Given the description of an element on the screen output the (x, y) to click on. 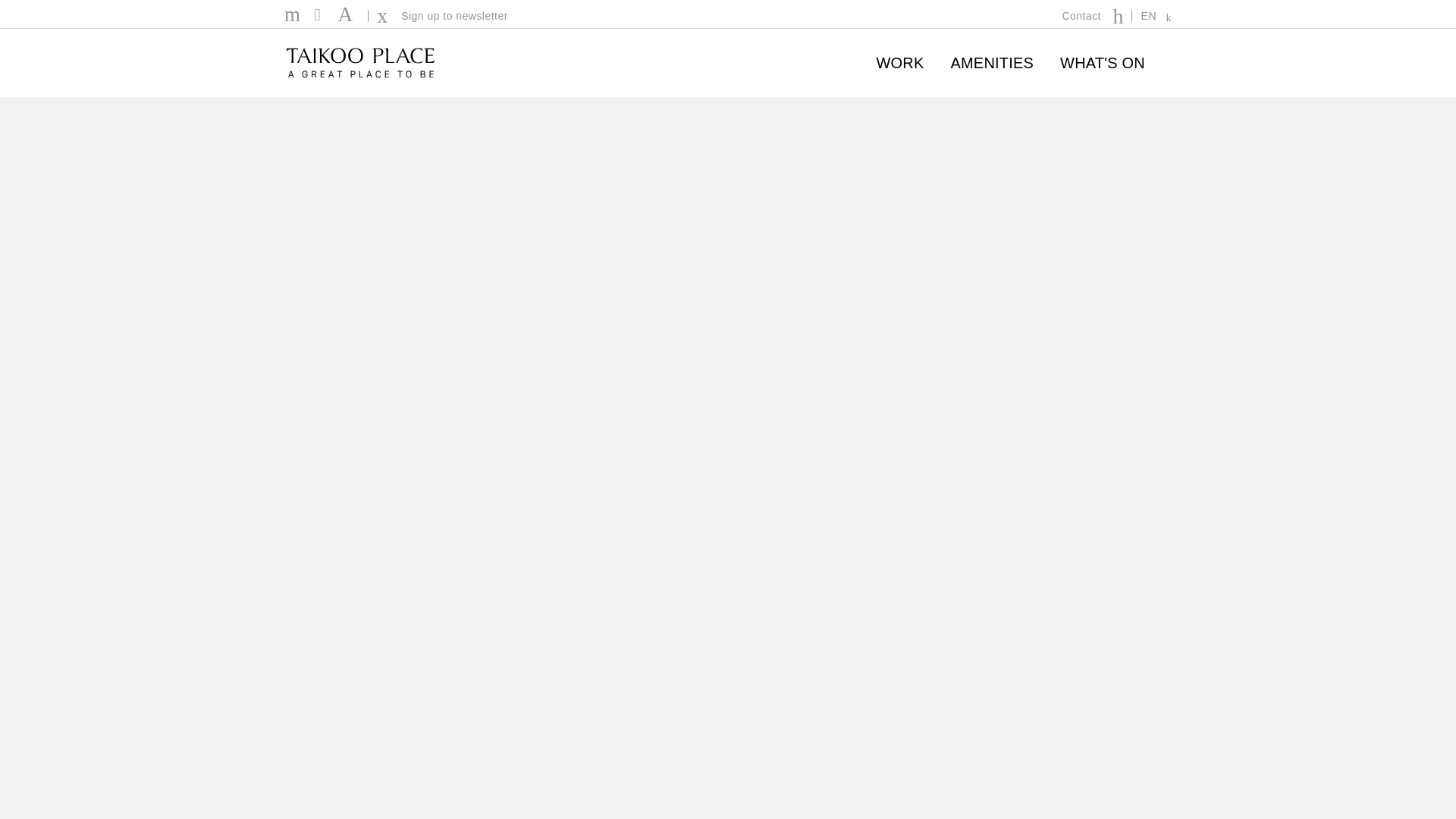
Sign up to newsletter (441, 16)
Contact (1096, 13)
AMENITIES (991, 62)
